Given the description of an element on the screen output the (x, y) to click on. 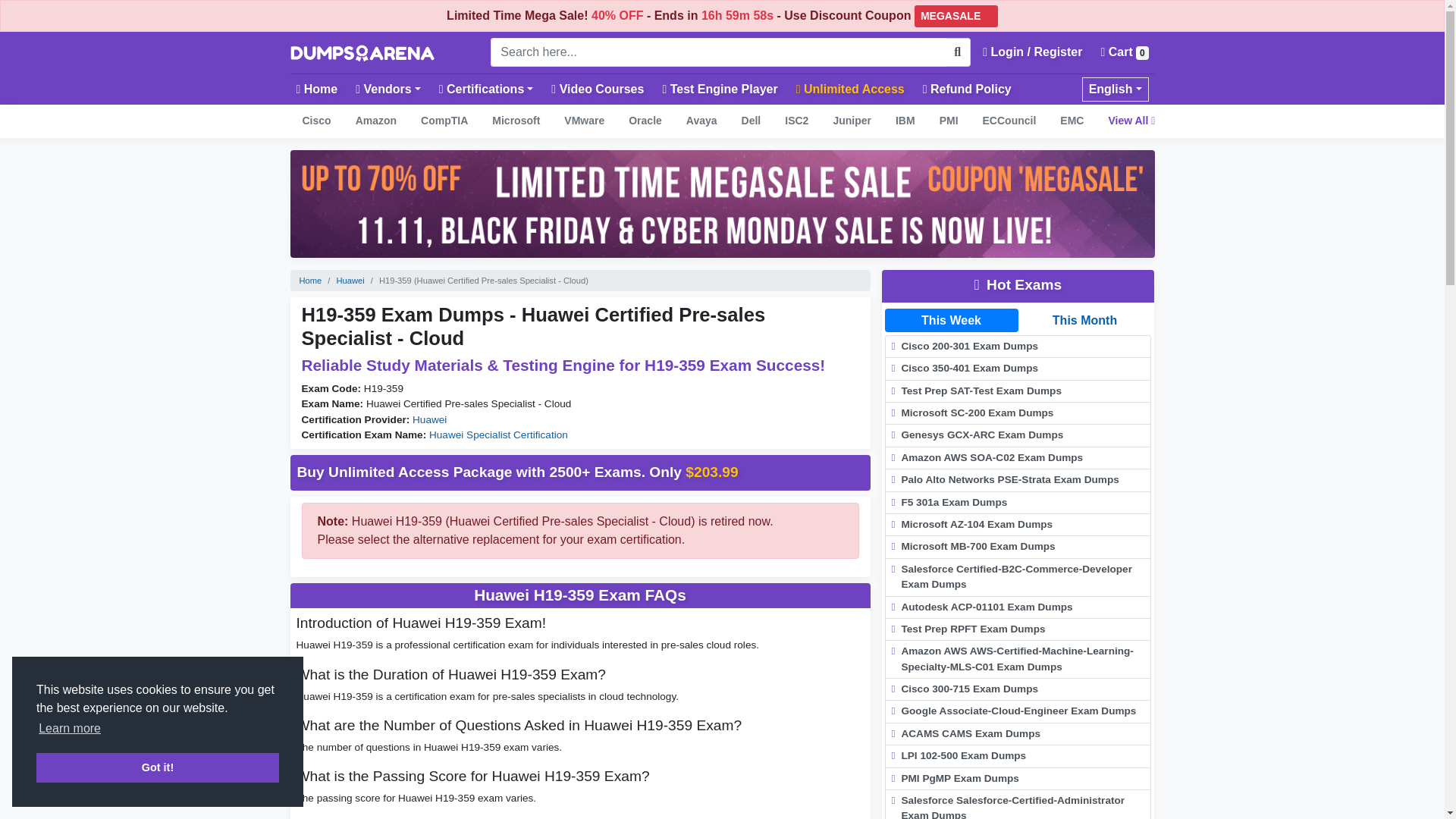
MEGASALE (955, 15)
Learn more (69, 728)
Home (316, 88)
Vendors (387, 88)
Cart 0 (1124, 51)
Got it! (157, 767)
